Given the description of an element on the screen output the (x, y) to click on. 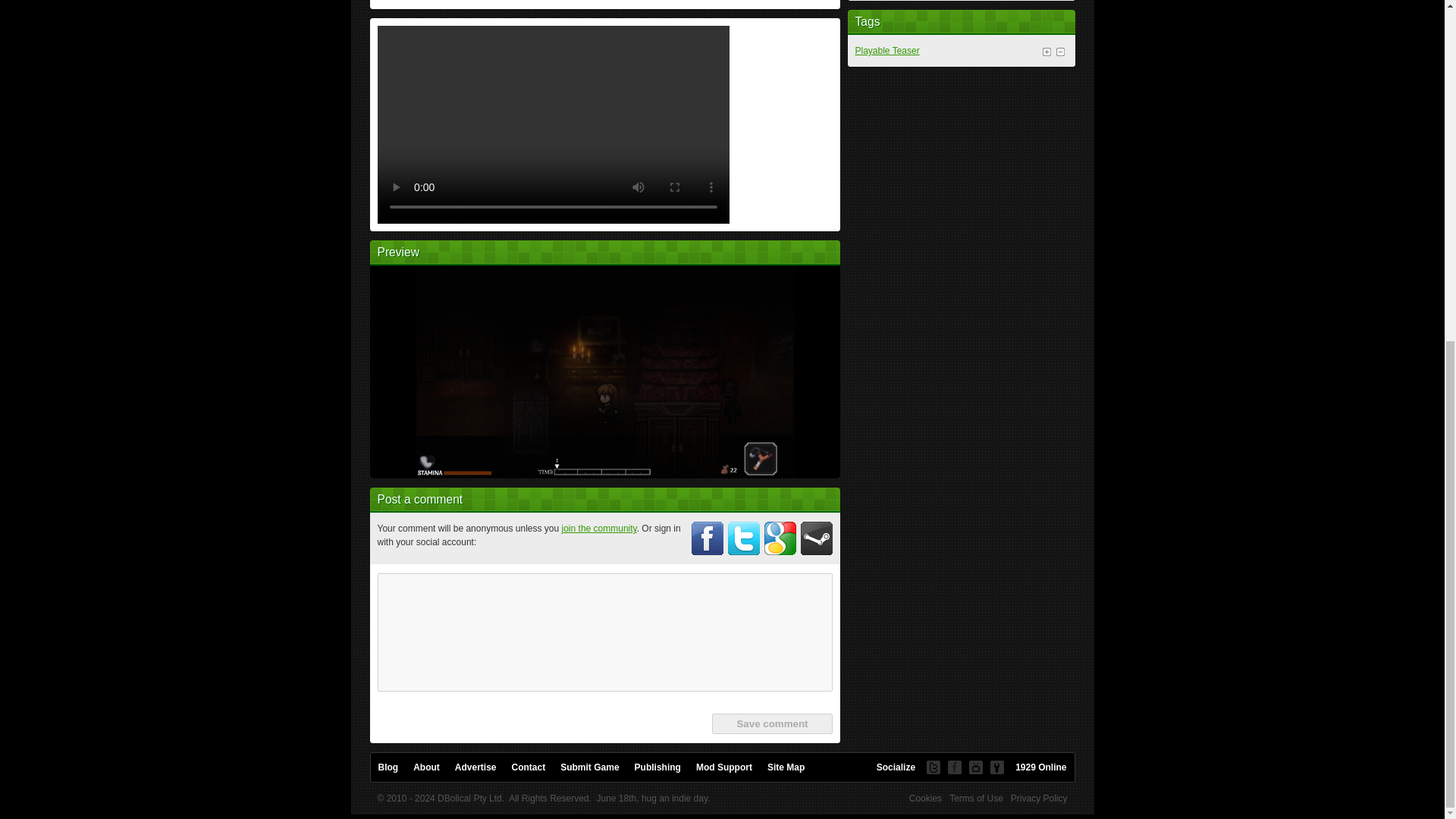
Save comment (771, 723)
